Given the description of an element on the screen output the (x, y) to click on. 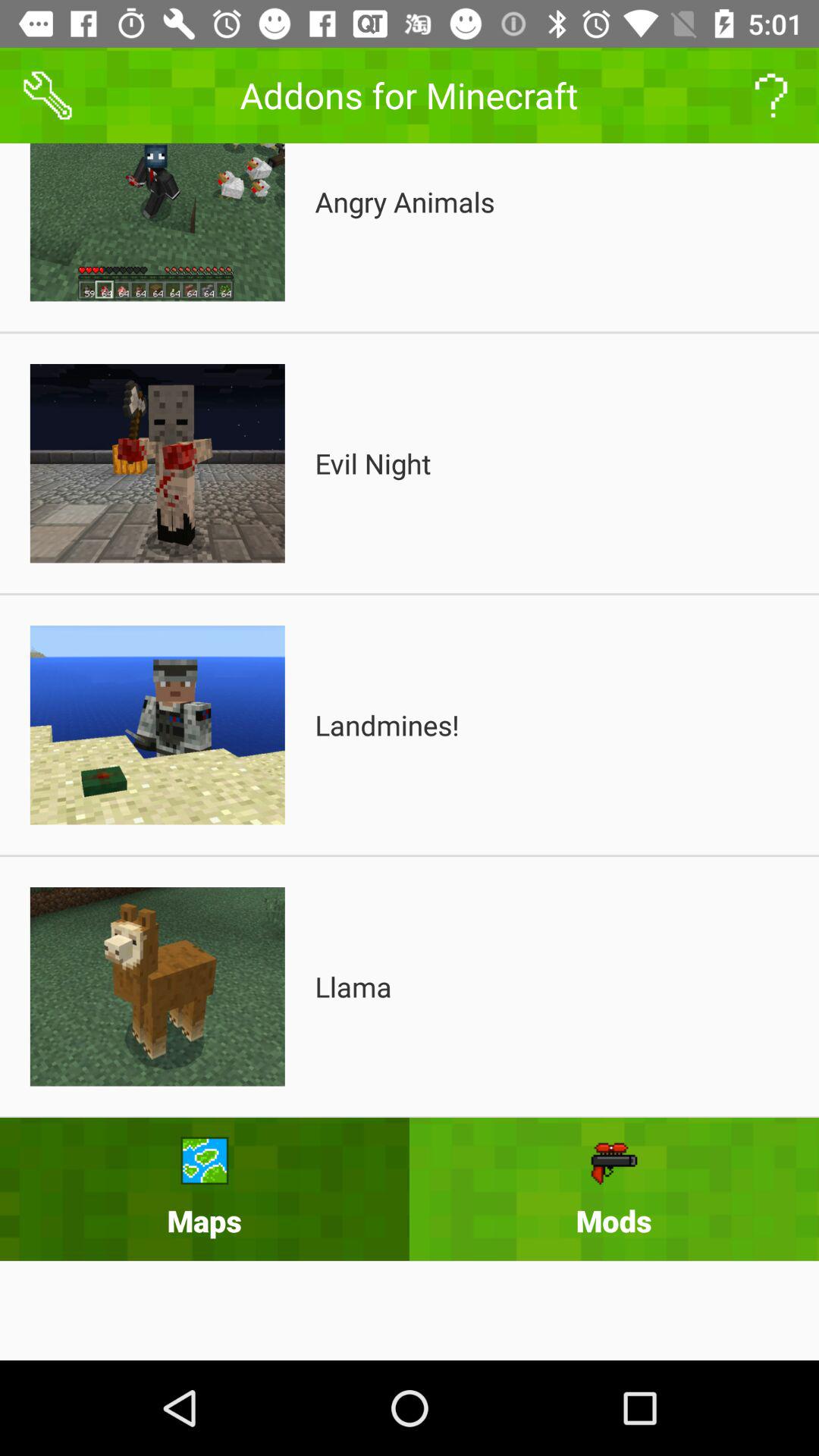
select the image left to landmines (157, 725)
